Given the description of an element on the screen output the (x, y) to click on. 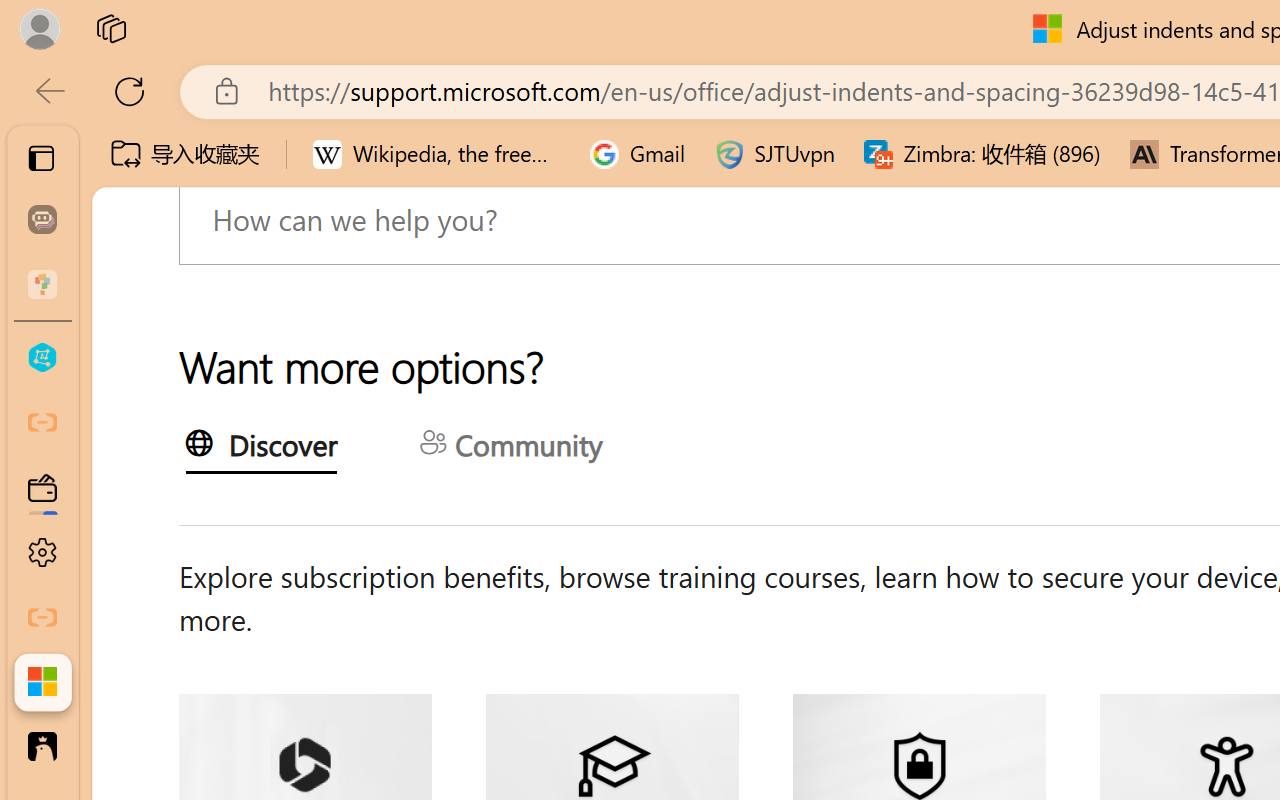
SJTUvpn (774, 154)
Wikipedia, the free encyclopedia (437, 154)
Gmail (637, 154)
Discover (260, 449)
wangyian_dsw - DSW (42, 357)
Adjust indents and spacing - Microsoft Support (42, 681)
